Given the description of an element on the screen output the (x, y) to click on. 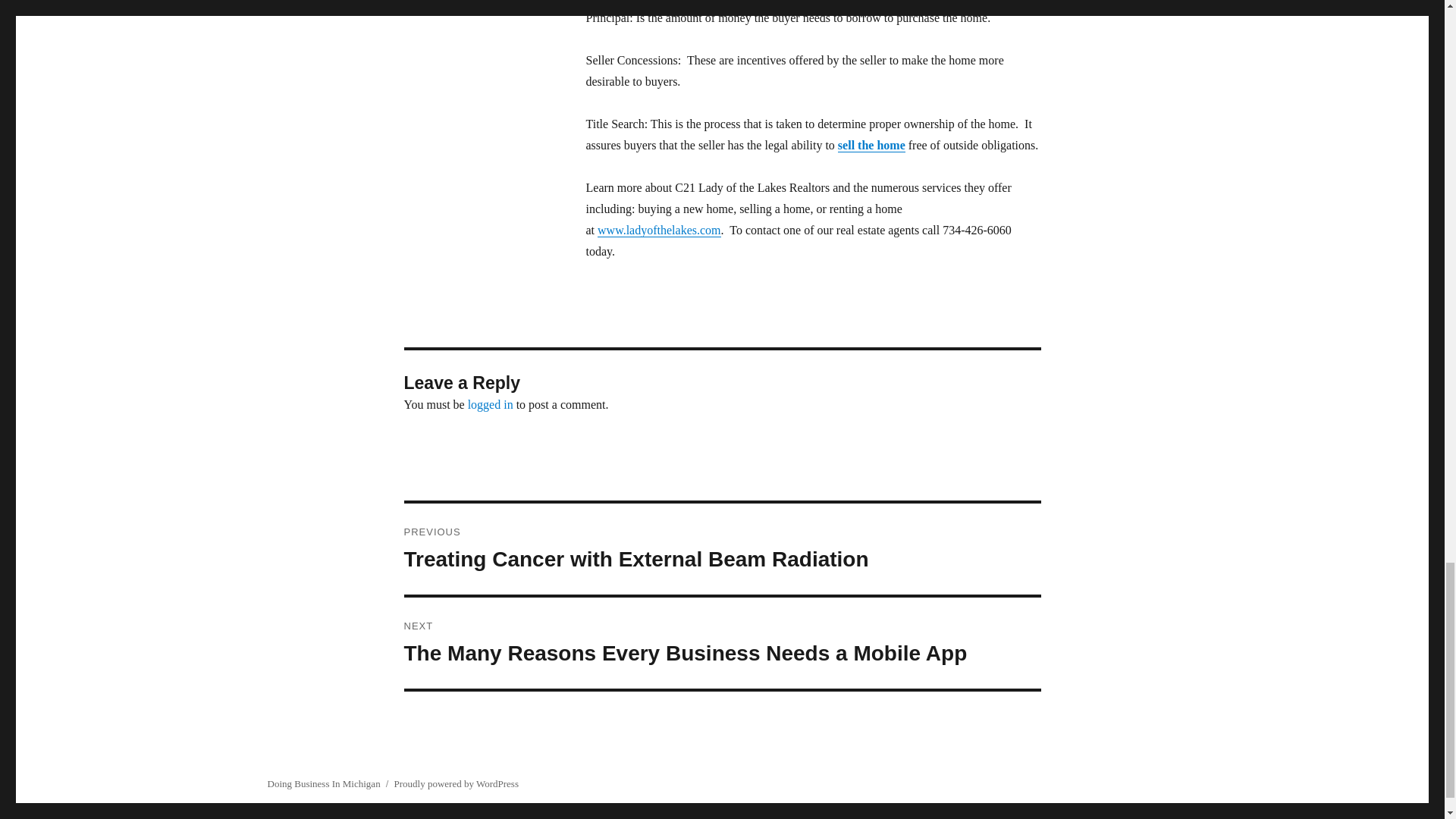
sell the home (871, 144)
Proudly powered by WordPress (456, 783)
Doing Business In Michigan (323, 783)
logged in (490, 404)
www.ladyofthelakes.com (658, 229)
